Given the description of an element on the screen output the (x, y) to click on. 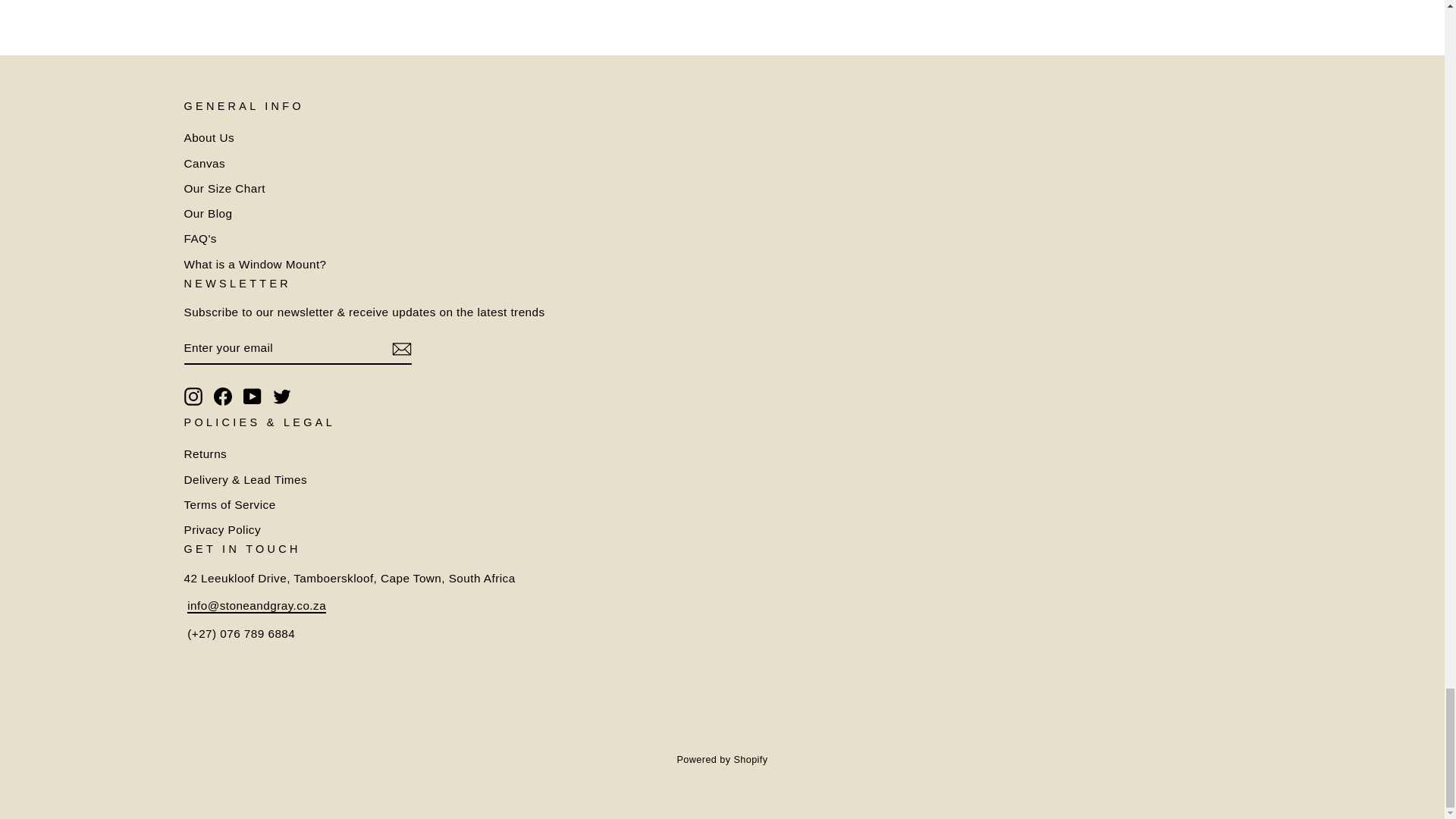
Stone and Gray on Instagram (192, 396)
Stone and Gray on YouTube (251, 396)
Stone and Gray on Facebook (222, 396)
Stone and Gray on Twitter (282, 396)
